Given the description of an element on the screen output the (x, y) to click on. 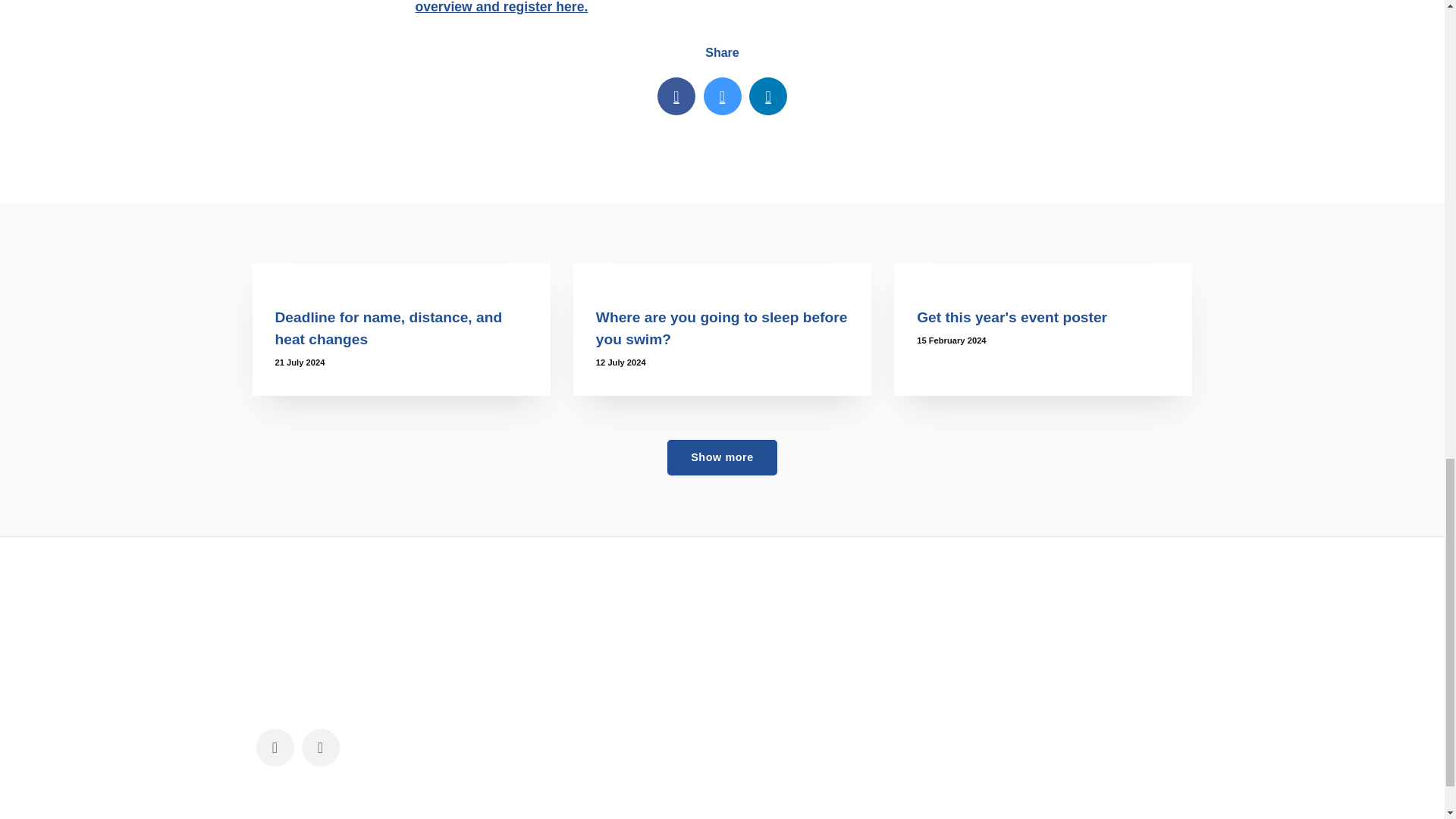
Where are you going to sleep before you swim? (721, 328)
Where are you going to sleep before you swim? (721, 273)
Get this year's event poster (1042, 273)
Deadline for name, distance, and heat changes (388, 328)
www.svoem.org (607, 631)
Get this year's event poster (1011, 317)
Linked In (768, 95)
Facebook (676, 95)
Get an overview and register here. (713, 7)
Twitter (722, 95)
Deadline for name, distance, and heat changes (400, 273)
